Given the description of an element on the screen output the (x, y) to click on. 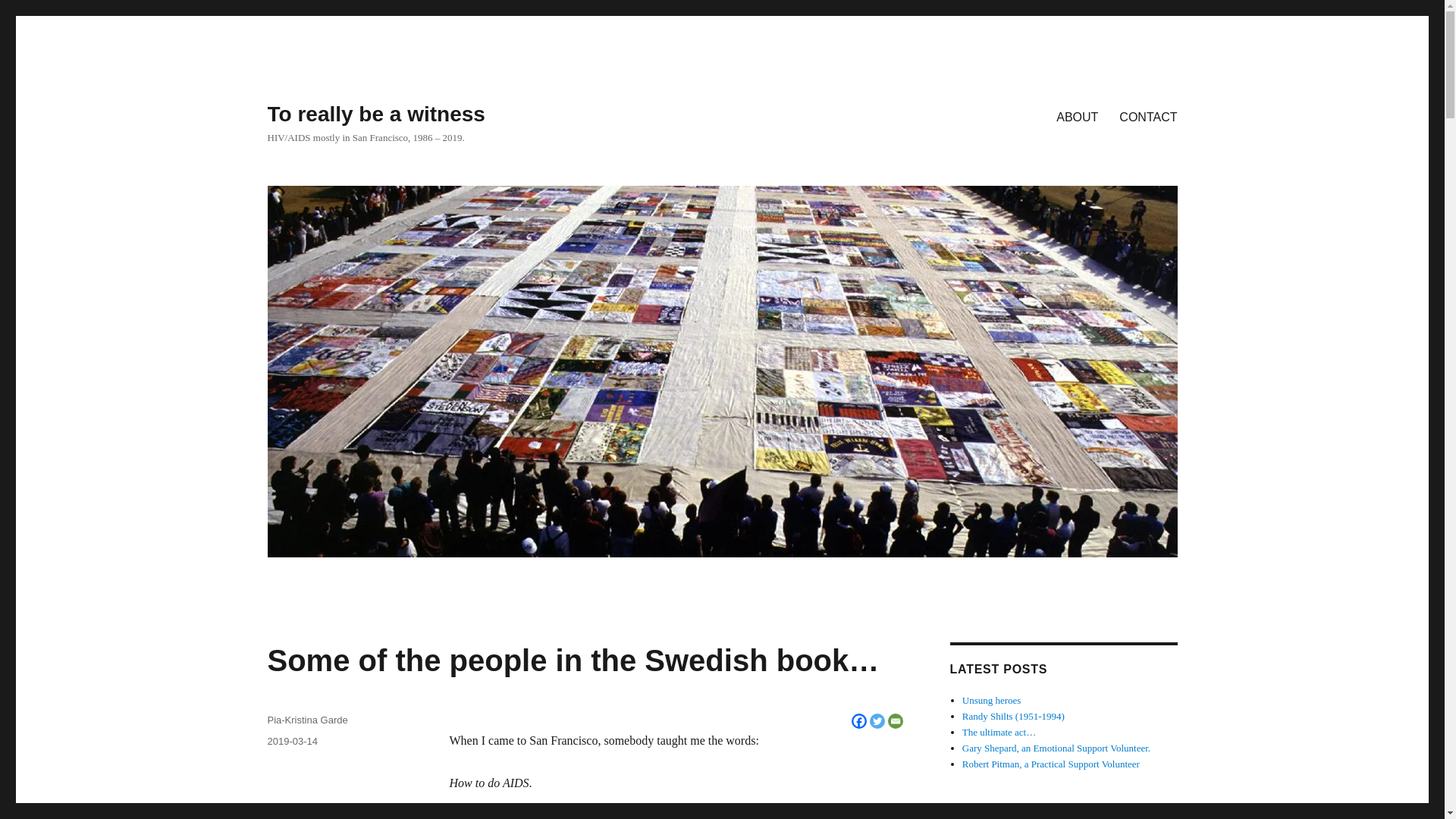
Robert Pitman, a Practical Support Volunteer (1051, 763)
ABOUT (1076, 116)
Unsung heroes (992, 699)
Facebook (858, 720)
Gary Shepard, an Emotional Support Volunteer. (1056, 747)
Twitter (876, 720)
To really be a witness (375, 114)
Email (894, 720)
2019-03-14 (291, 740)
Pia-Kristina Garde (306, 719)
CONTACT (1148, 116)
